Given the description of an element on the screen output the (x, y) to click on. 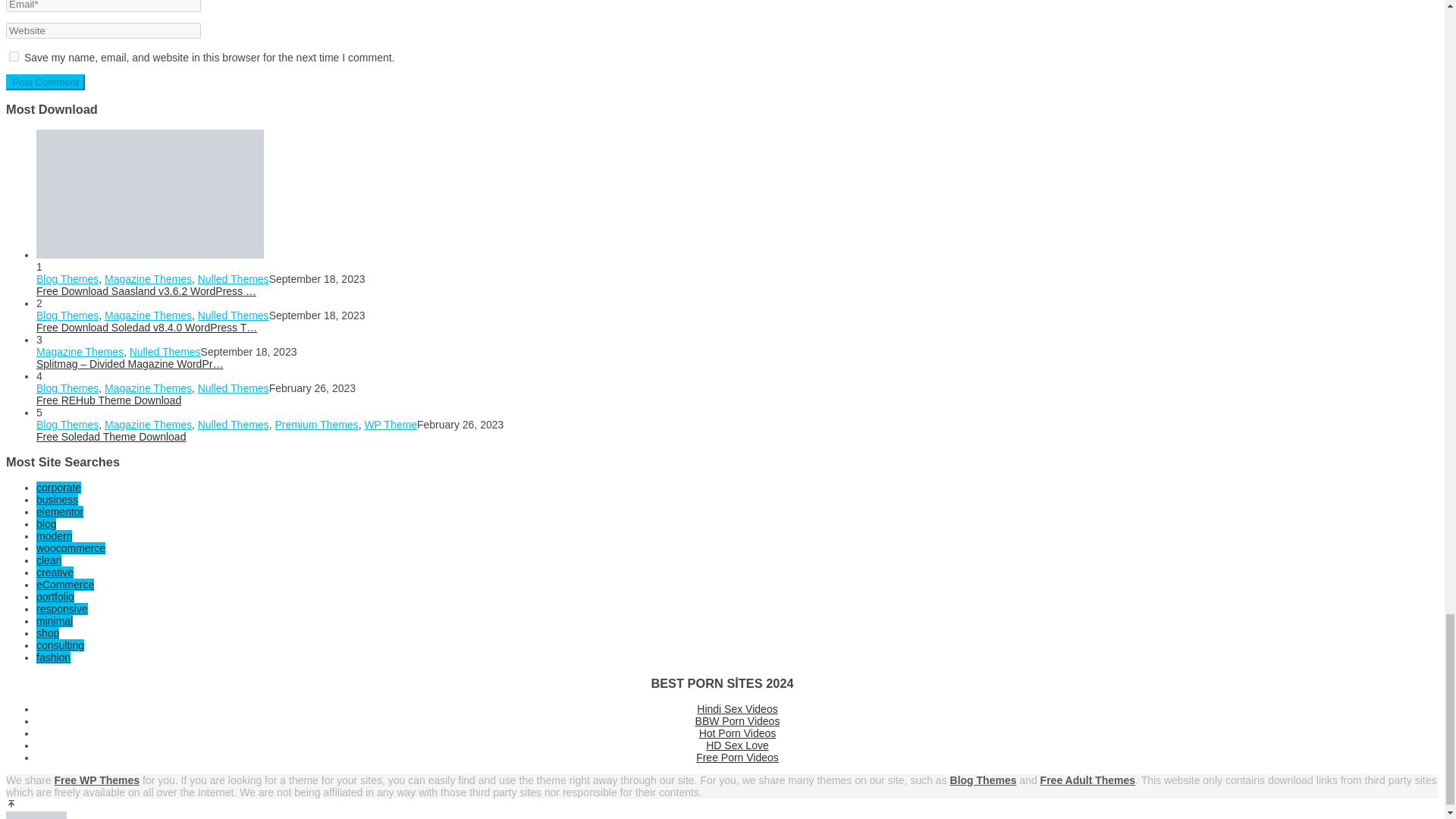
Post Comment (44, 82)
yes (13, 56)
